Given the description of an element on the screen output the (x, y) to click on. 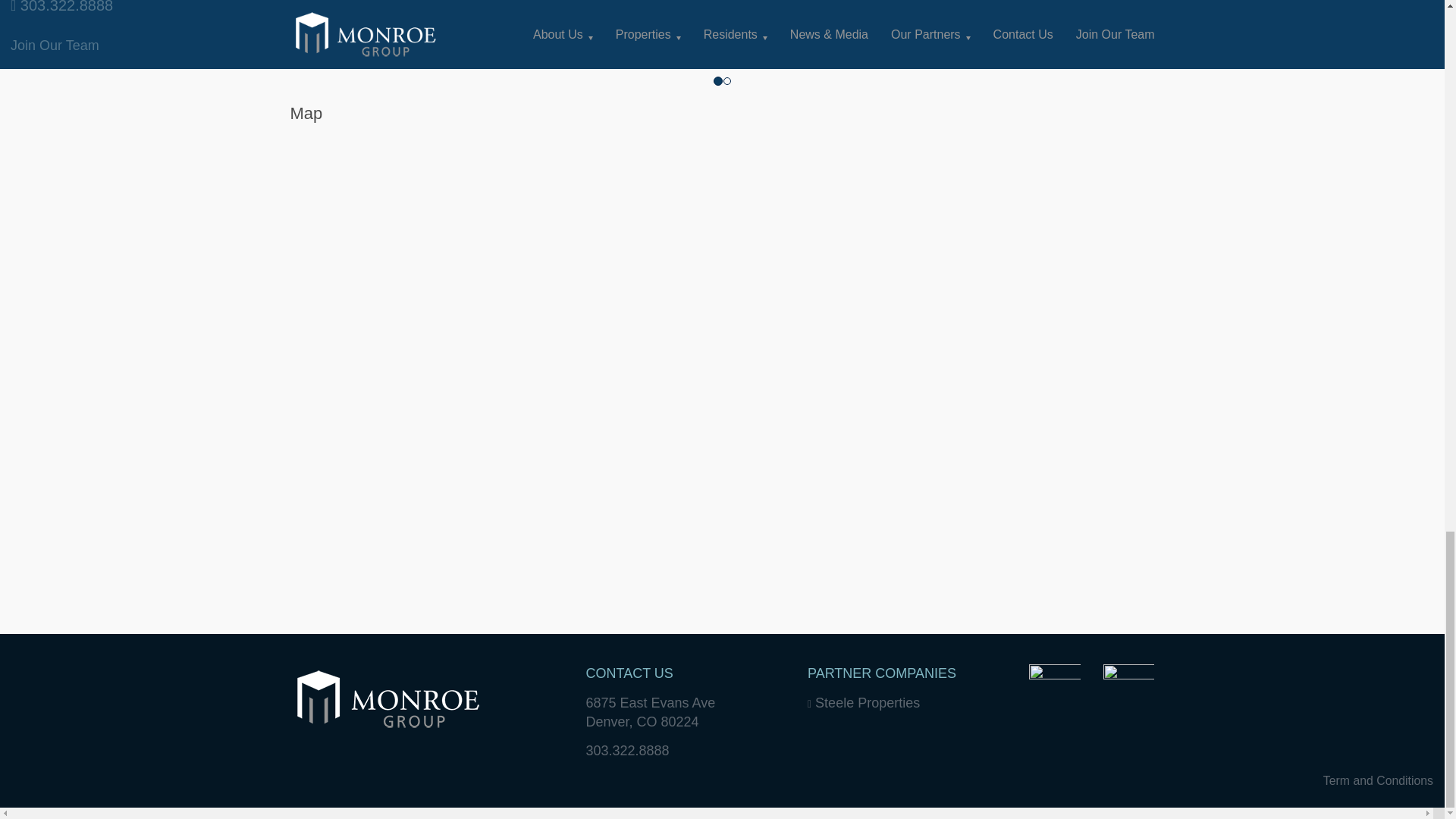
303.322.8888 (626, 750)
Steele Properties (864, 702)
Term and Conditions (1377, 780)
